Given the description of an element on the screen output the (x, y) to click on. 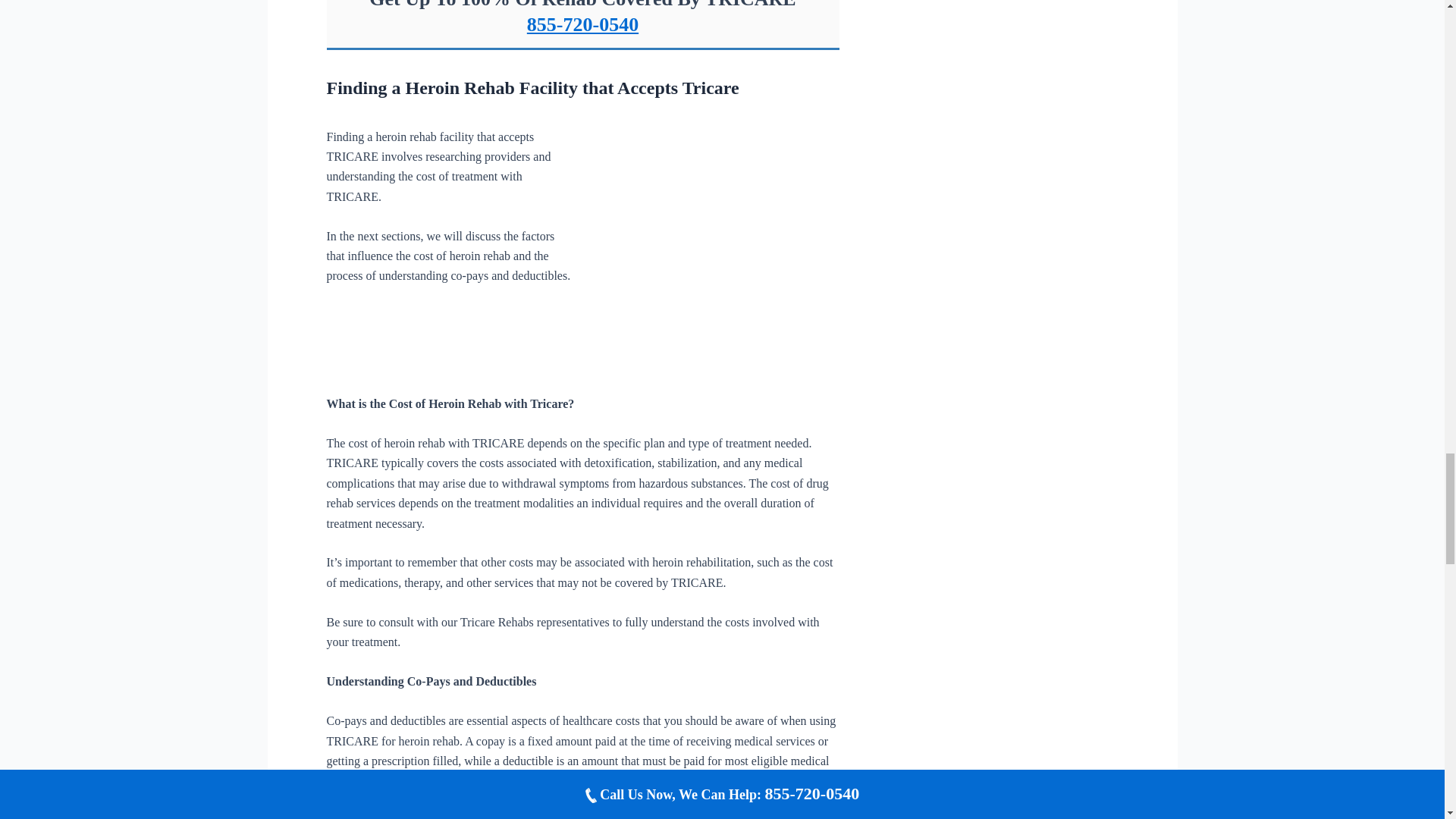
Understanding 3 (717, 247)
